Given the description of an element on the screen output the (x, y) to click on. 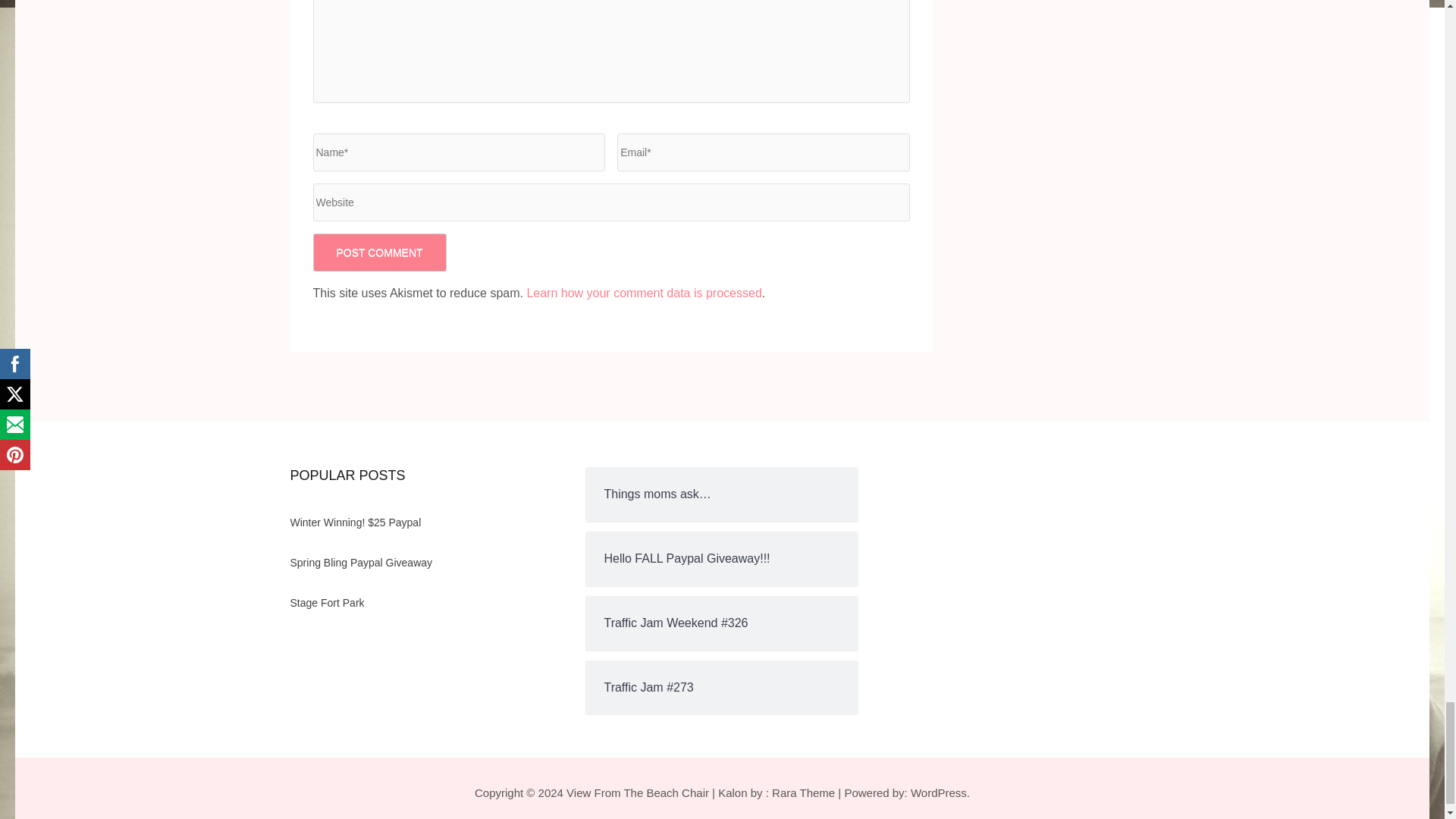
Post Comment (379, 252)
